Given the description of an element on the screen output the (x, y) to click on. 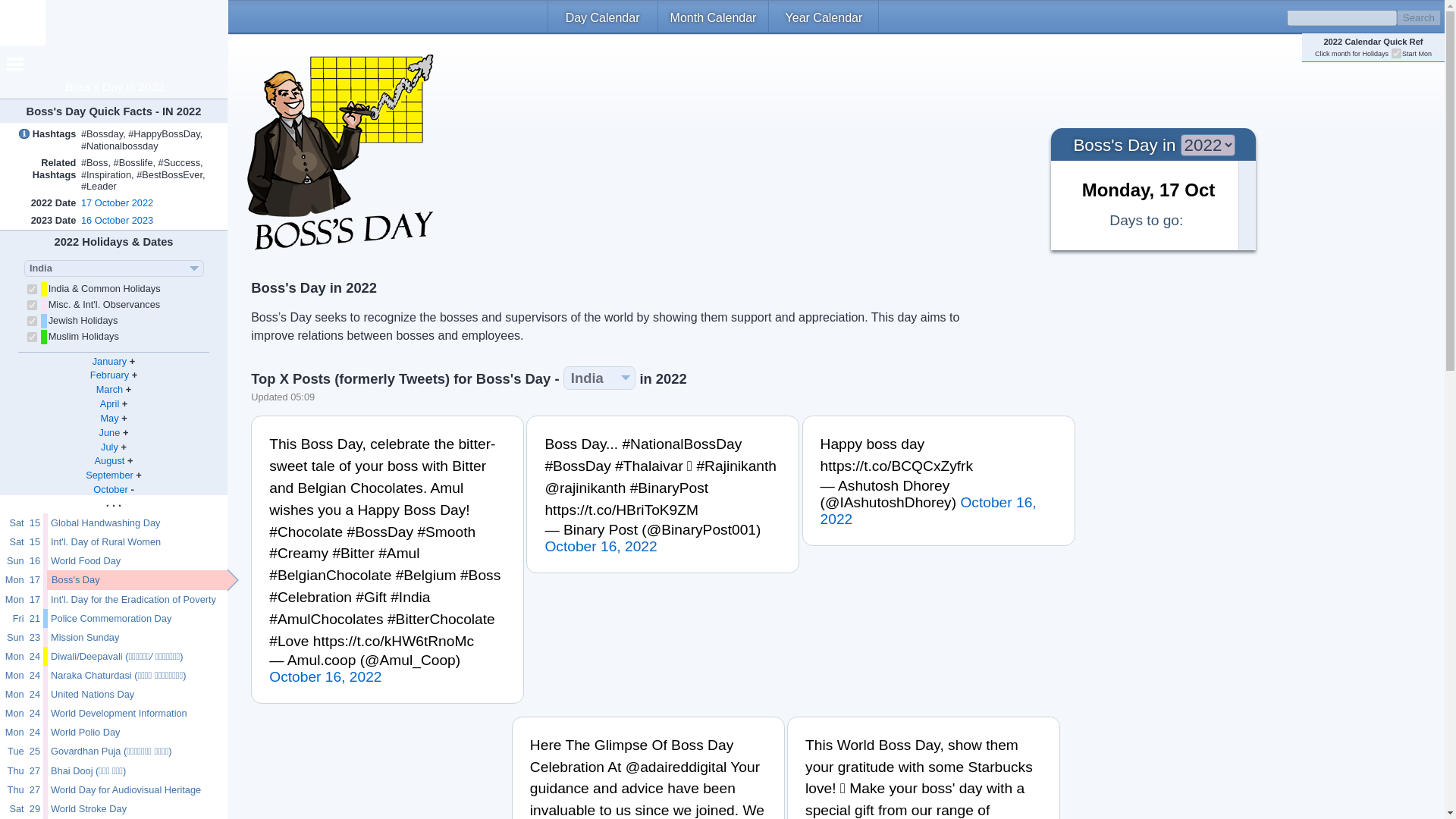
January (110, 360)
Popular Social Media Hashtags (40, 139)
all (32, 337)
all (32, 305)
all (32, 320)
all (32, 289)
Search (1418, 17)
Miscellaneous and International Holidays and Observances (104, 304)
17 October 2022 (116, 202)
Show prior holidays (113, 502)
